Given the description of an element on the screen output the (x, y) to click on. 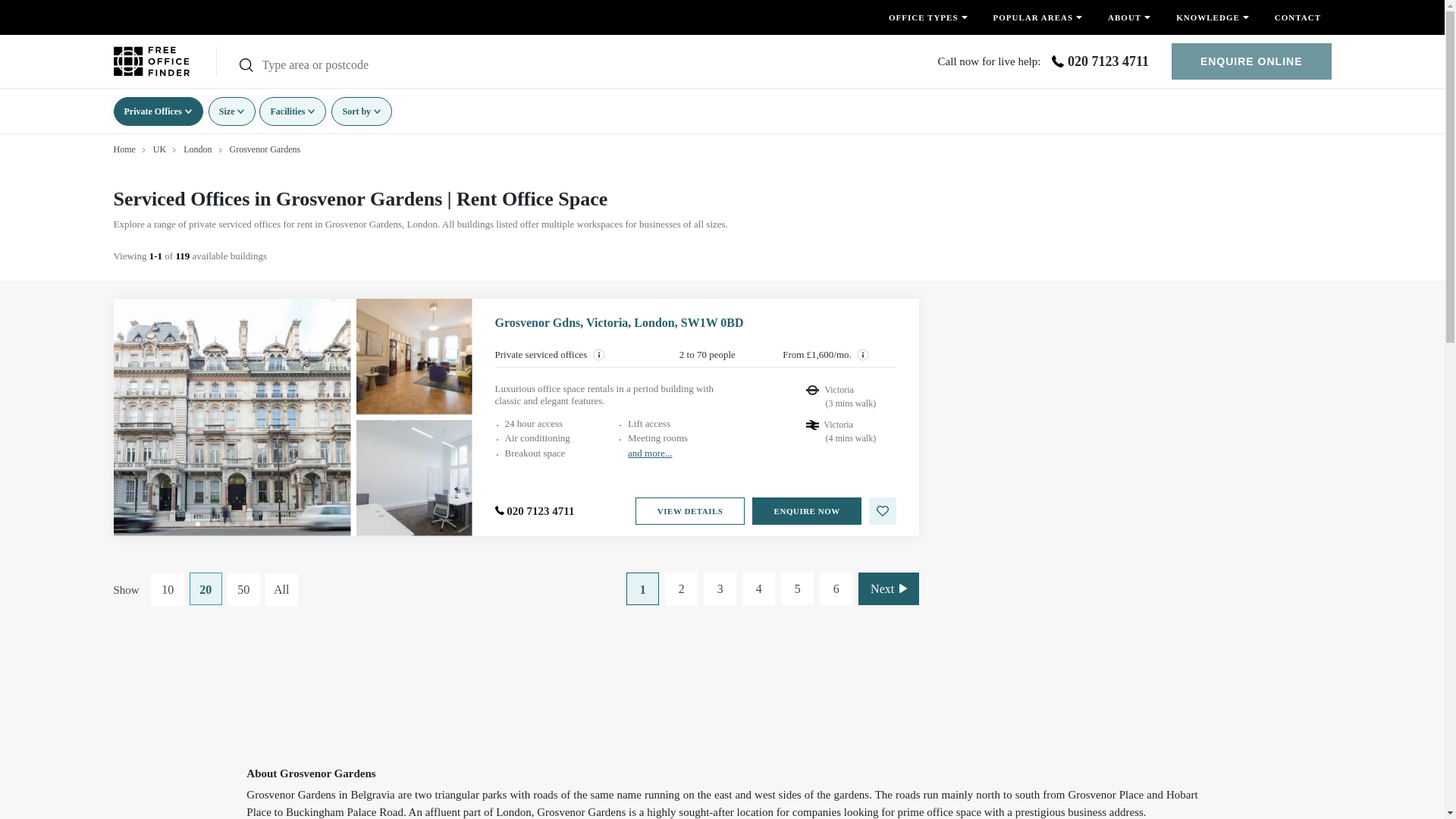
POPULAR AREAS (1036, 17)
OFFICE TYPES (927, 17)
